Given the description of an element on the screen output the (x, y) to click on. 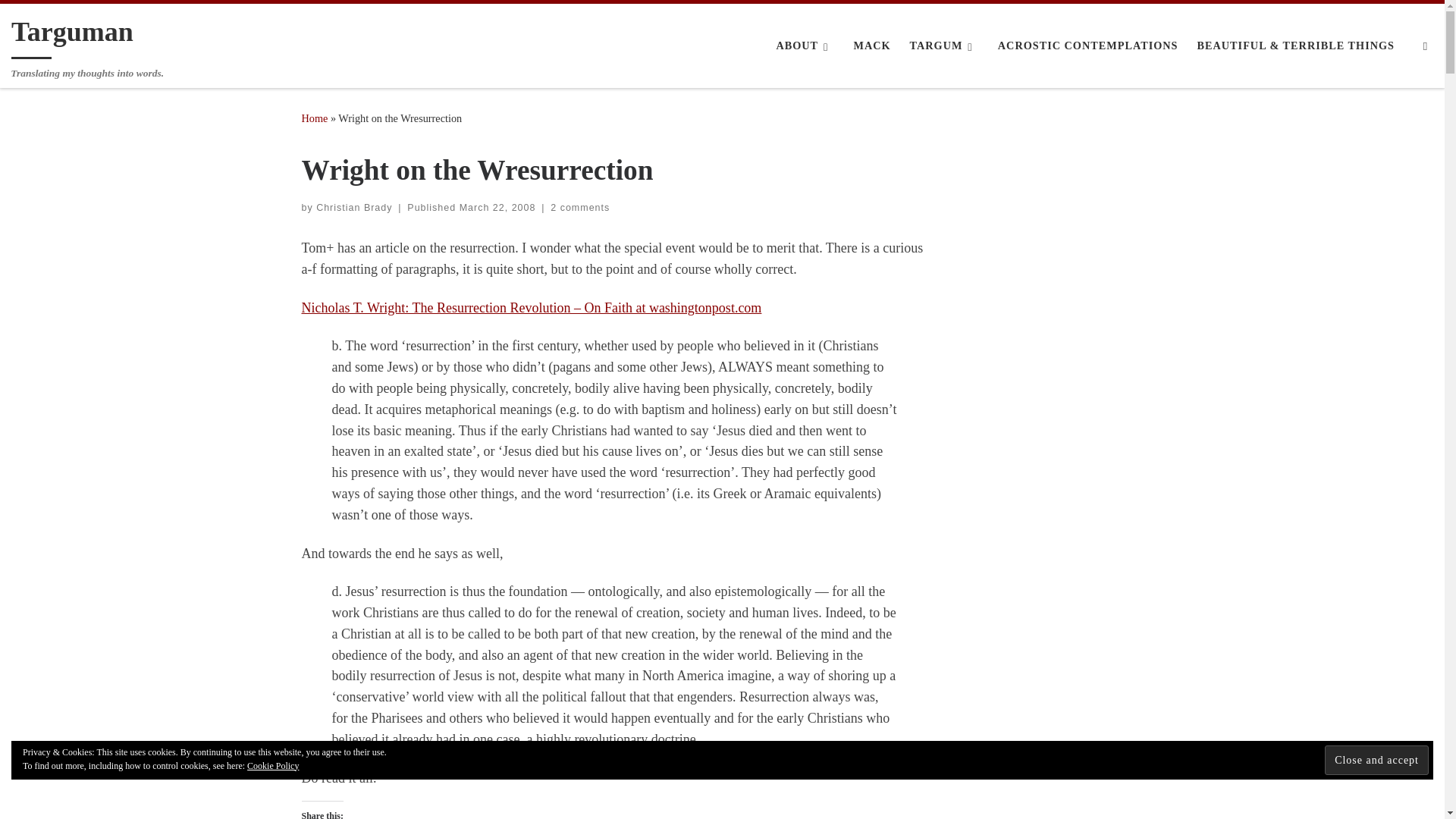
10:52 pm (497, 207)
ABOUT (805, 45)
MACK (871, 45)
Targuman (315, 118)
TARGUM (944, 45)
2 Comments on Wright on the Wresurrection (580, 207)
Targuman (72, 34)
Skip to content (57, 20)
Close and accept (1376, 758)
ACROSTIC CONTEMPLATIONS (1087, 45)
